Given the description of an element on the screen output the (x, y) to click on. 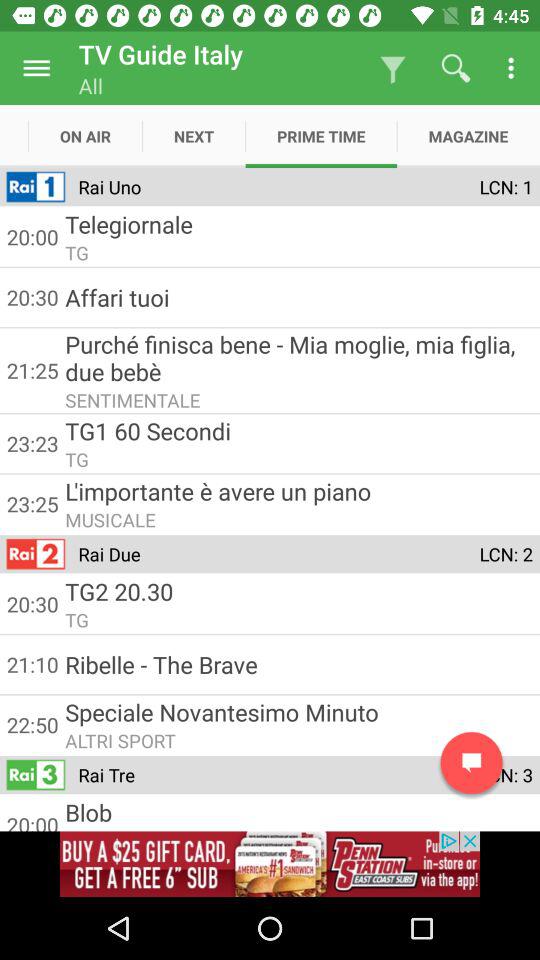
message (471, 762)
